Given the description of an element on the screen output the (x, y) to click on. 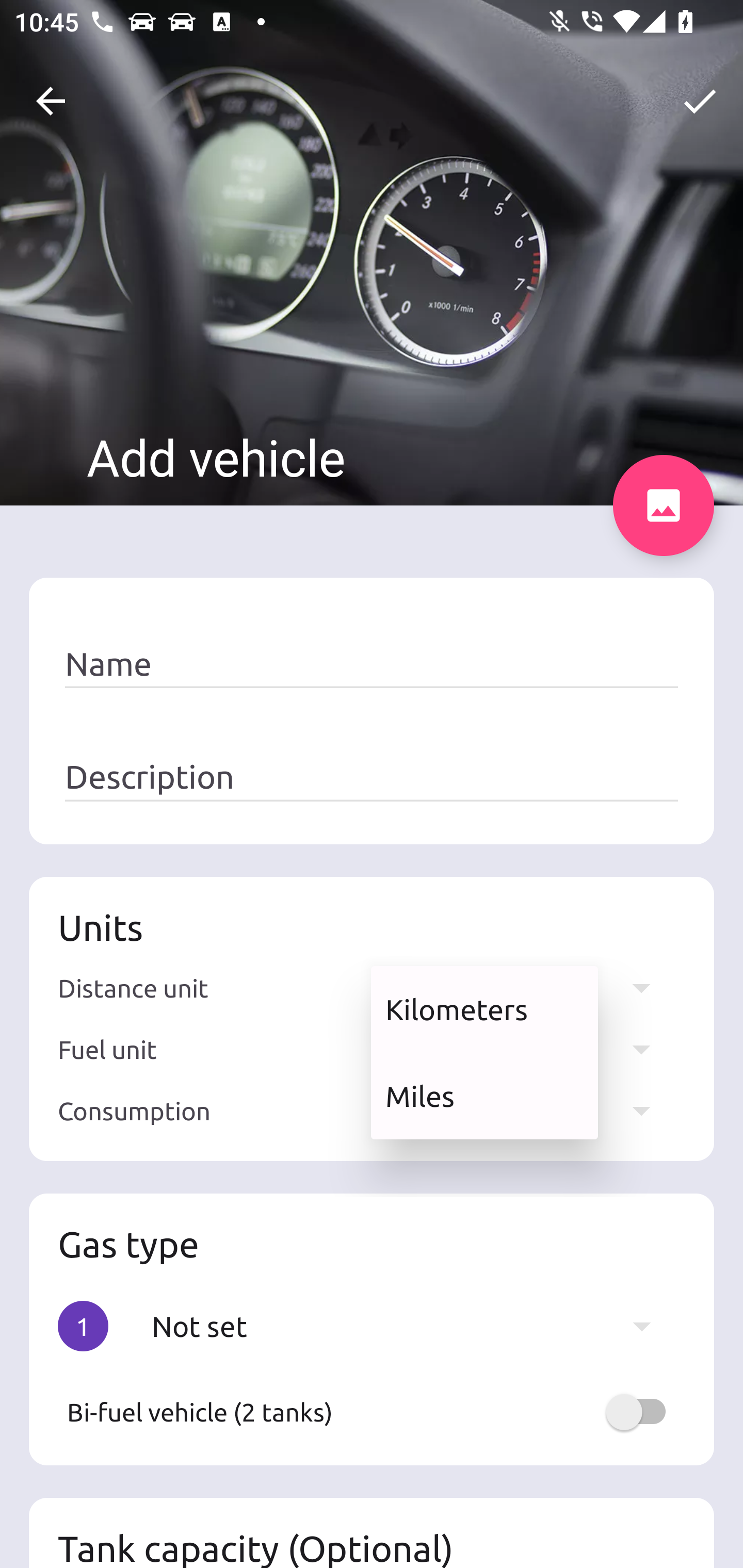
Kilometers (484, 1008)
Miles (484, 1095)
